Given the description of an element on the screen output the (x, y) to click on. 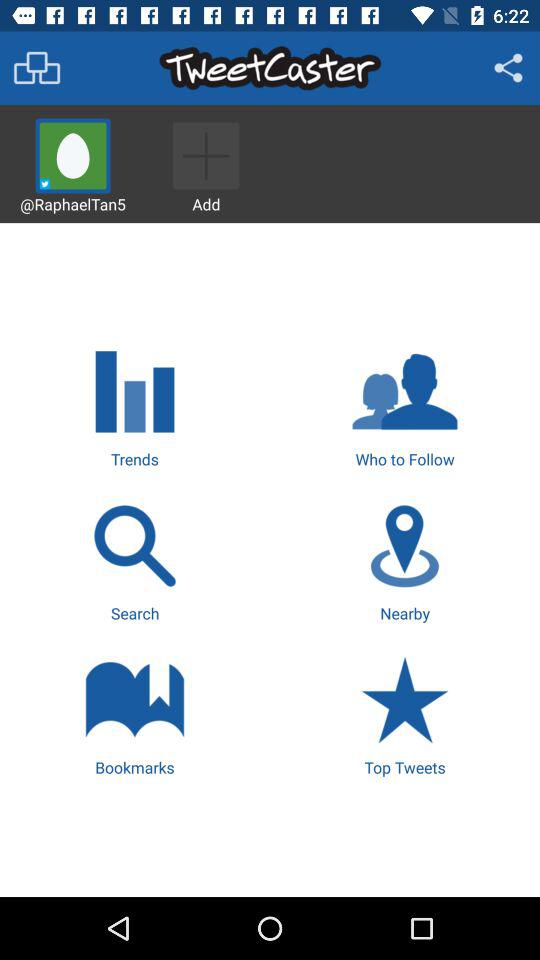
select bookmarks icon (134, 714)
